Given the description of an element on the screen output the (x, y) to click on. 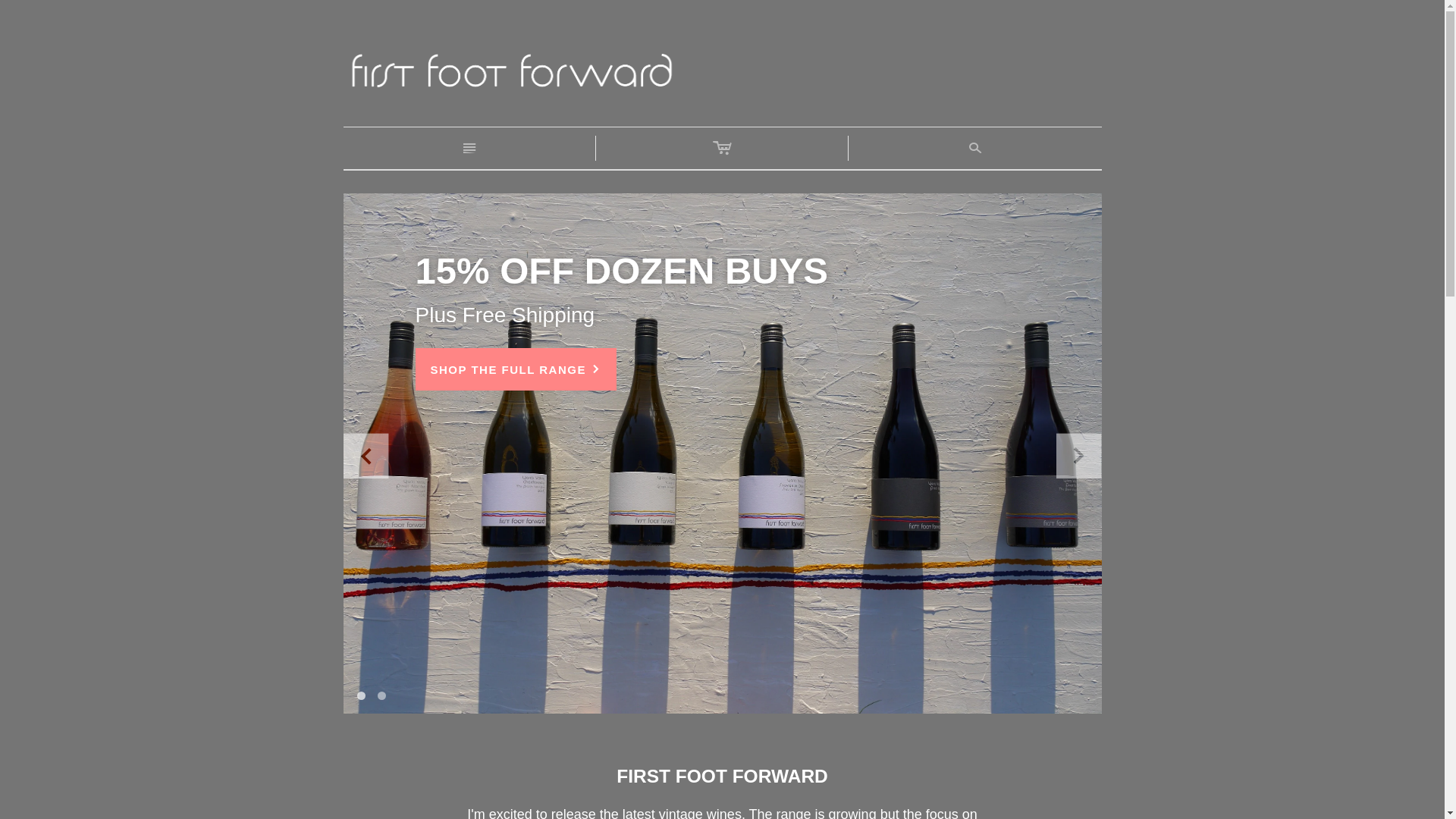
SHOP THE FULL RANGE > Element type: text (516, 369)
c Element type: text (722, 148)
